Given the description of an element on the screen output the (x, y) to click on. 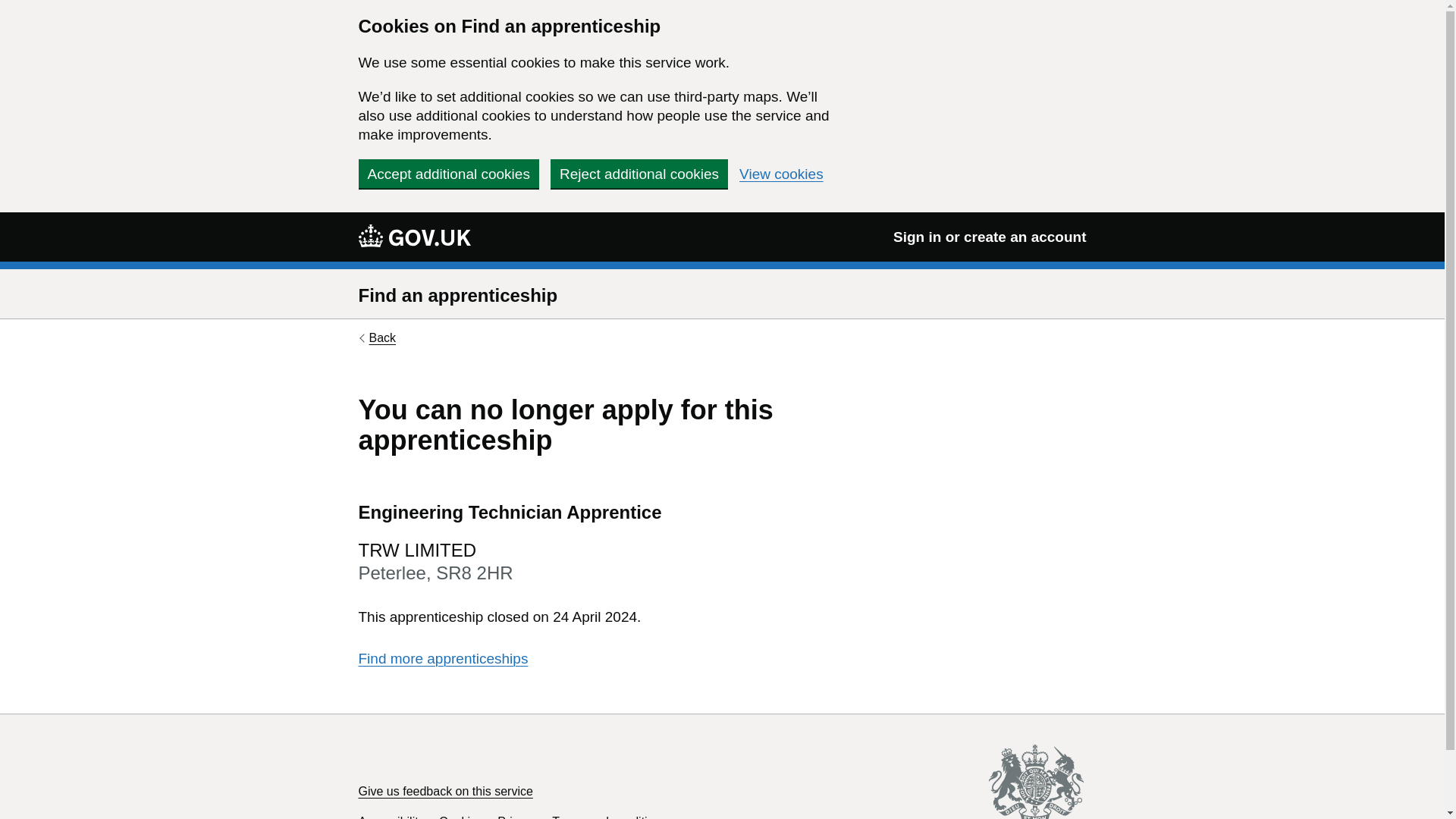
Give us feedback on this service (445, 790)
Skip to main content (11, 7)
Sign in or create an account (989, 236)
Terms and conditions (608, 816)
Accessibility (390, 816)
GOV.UK (414, 235)
Find more apprenticeships (442, 658)
Accept additional cookies (448, 173)
Privacy (517, 816)
GOV.UK (414, 235)
Back (377, 337)
View cookies (781, 173)
Reject additional cookies (639, 173)
Cookies (461, 816)
